Given the description of an element on the screen output the (x, y) to click on. 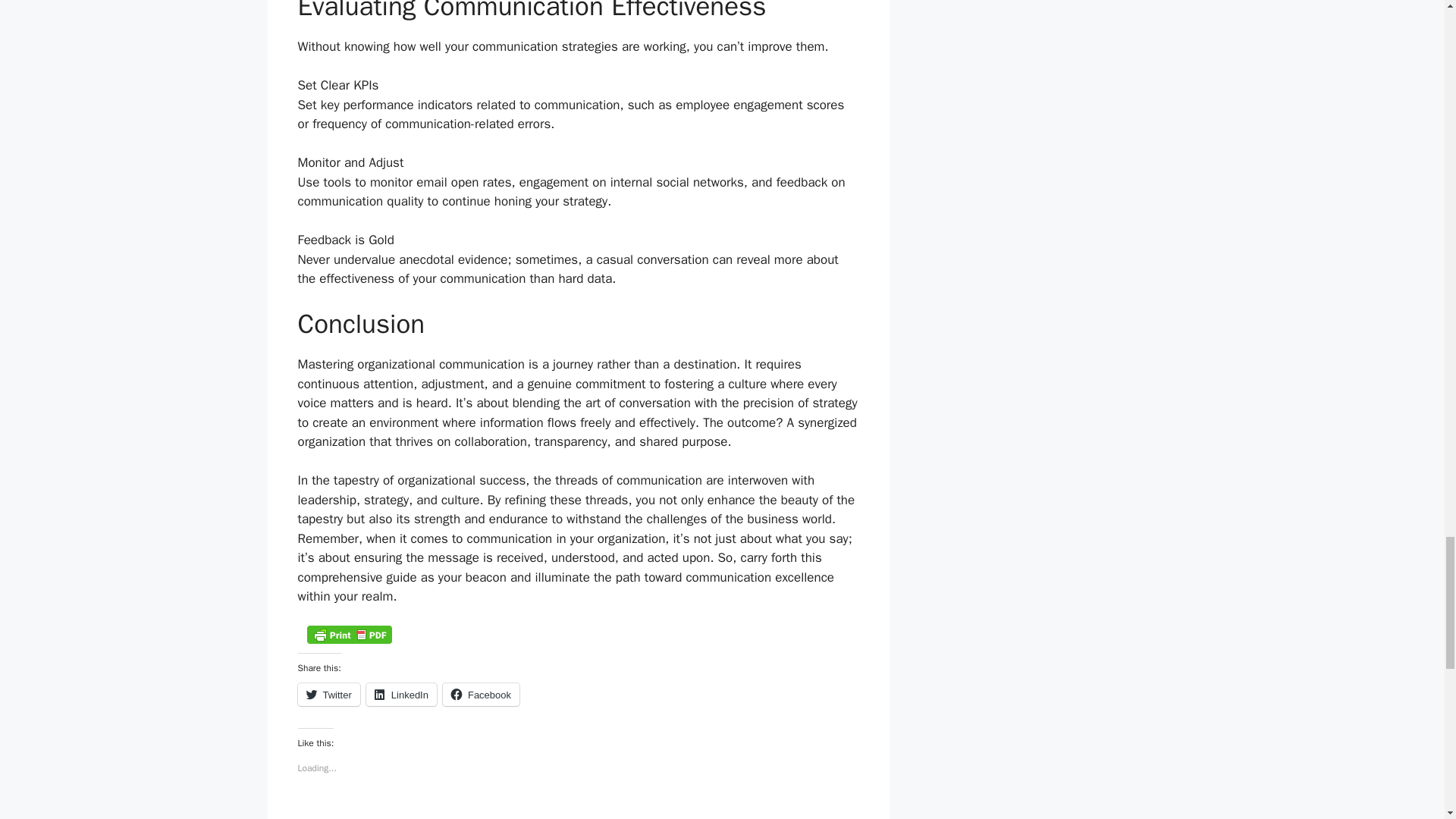
Click to share on LinkedIn (401, 694)
Twitter (328, 694)
Click to share on Twitter (328, 694)
Facebook (480, 694)
LinkedIn (401, 694)
Click to share on Facebook (480, 694)
